Given the description of an element on the screen output the (x, y) to click on. 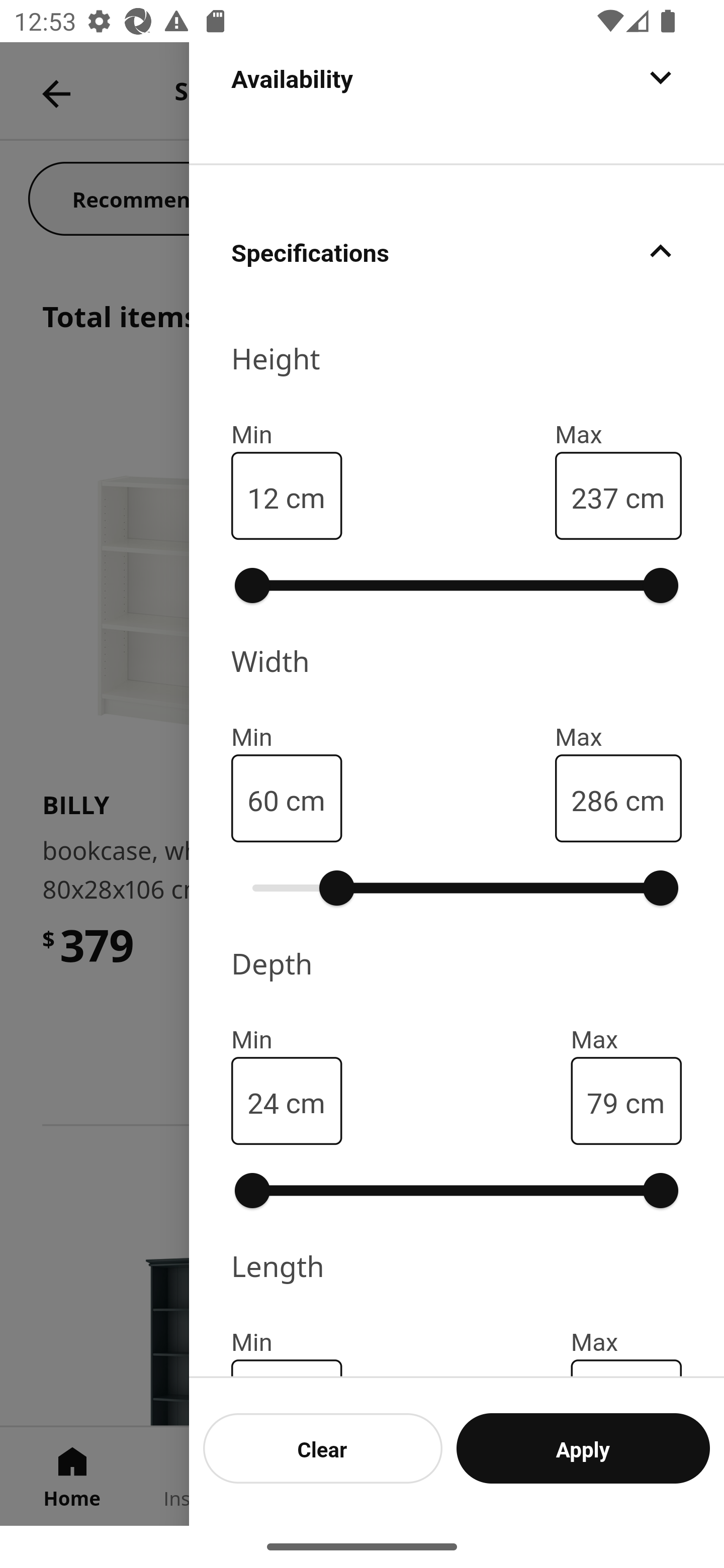
Availability (456, 101)
Specifications (456, 250)
 cm 12 (286, 495)
 cm 237 (618, 495)
12 (262, 496)
237 (594, 496)
0% 100% (456, 585)
 cm 60 (286, 798)
 cm 286 (618, 798)
60 (262, 798)
286 (594, 798)
21% 100% (456, 888)
 cm 24 (286, 1100)
 cm 79 (626, 1100)
24 (262, 1101)
79 (602, 1101)
0% 100% (456, 1190)
Clear (322, 1447)
Apply (583, 1447)
